Given the description of an element on the screen output the (x, y) to click on. 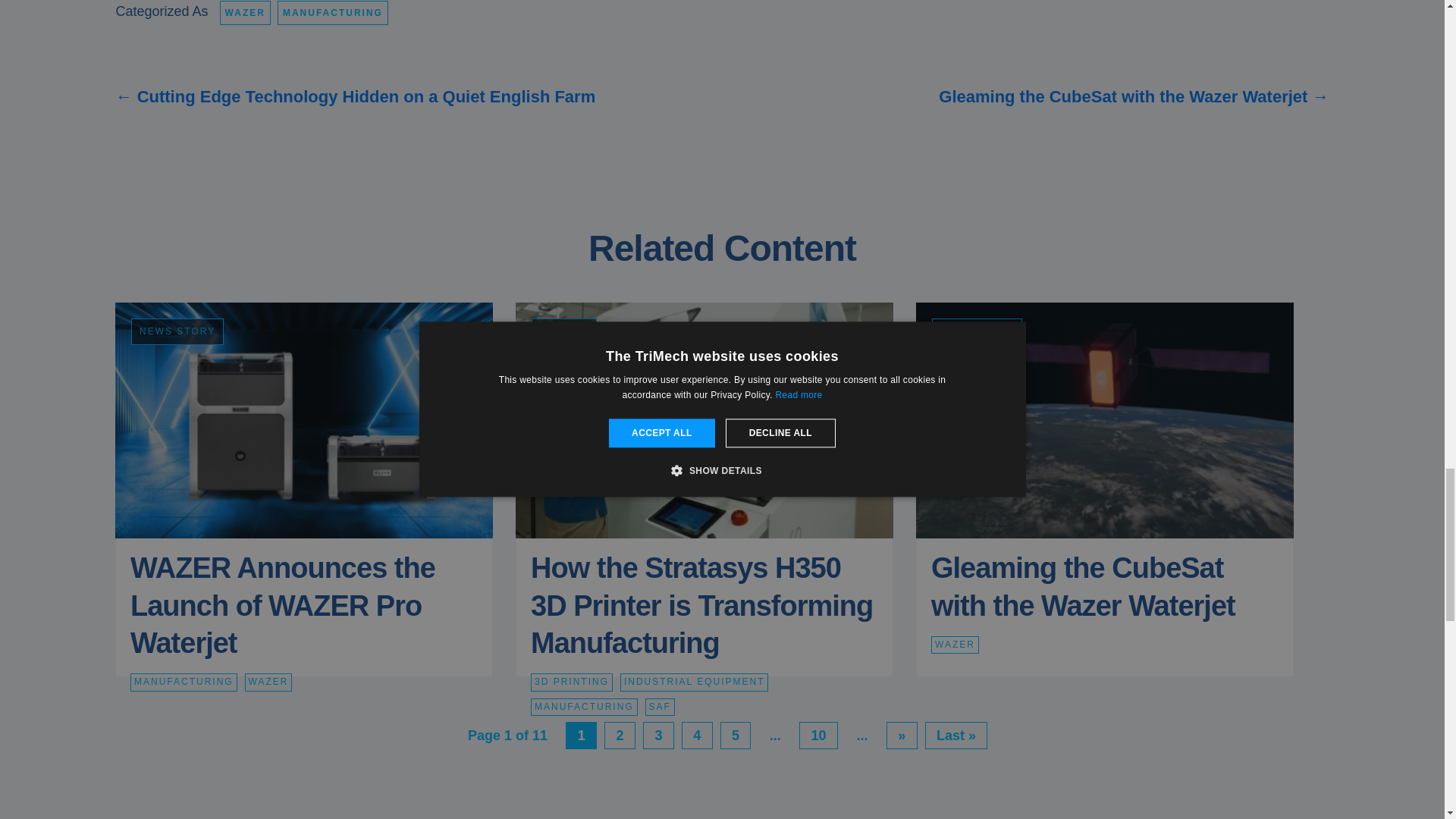
Page 3 (658, 735)
Page 4 (697, 735)
Page 10 (818, 735)
Page 5 (735, 735)
Page 2 (619, 735)
